Given the description of an element on the screen output the (x, y) to click on. 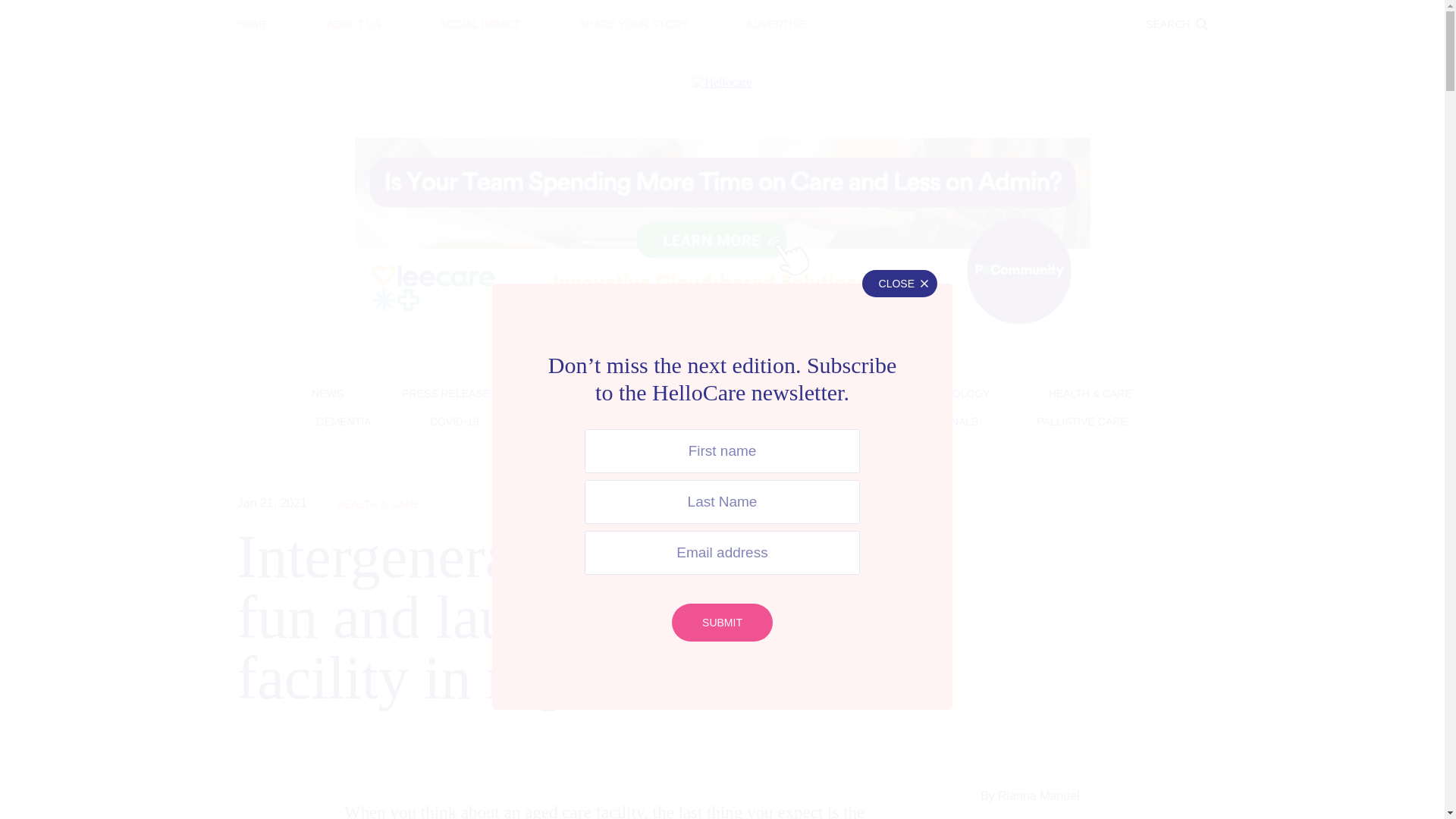
EDUCATION (721, 13)
Submit (722, 622)
SHARE YOUR STORY (632, 24)
ADVERTISE (775, 24)
HOME (251, 24)
SOCIAL IMPACT (480, 24)
ABOUT US (354, 24)
SEARCH (1176, 24)
